Given the description of an element on the screen output the (x, y) to click on. 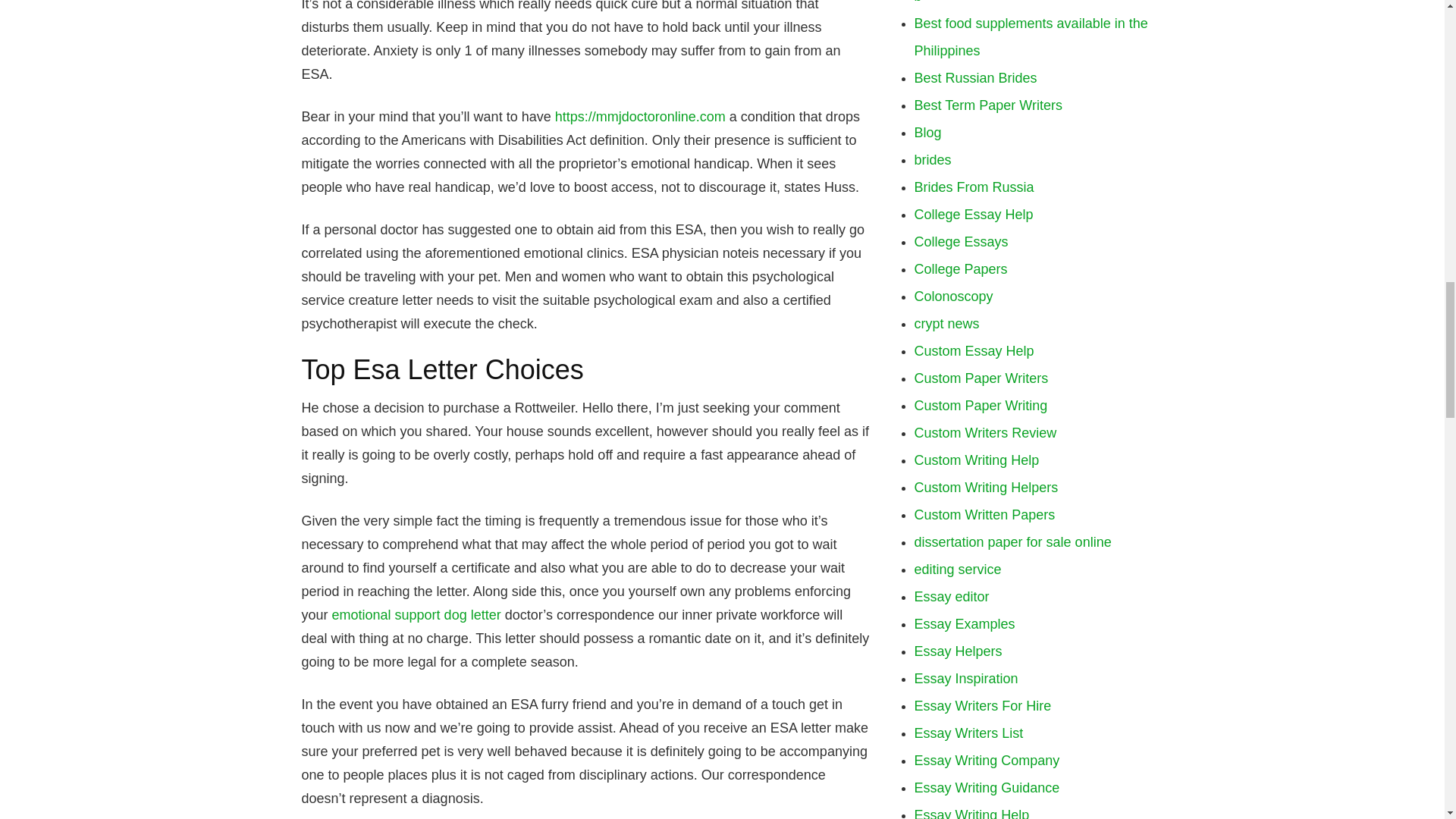
emotional support dog letter (415, 614)
